Given the description of an element on the screen output the (x, y) to click on. 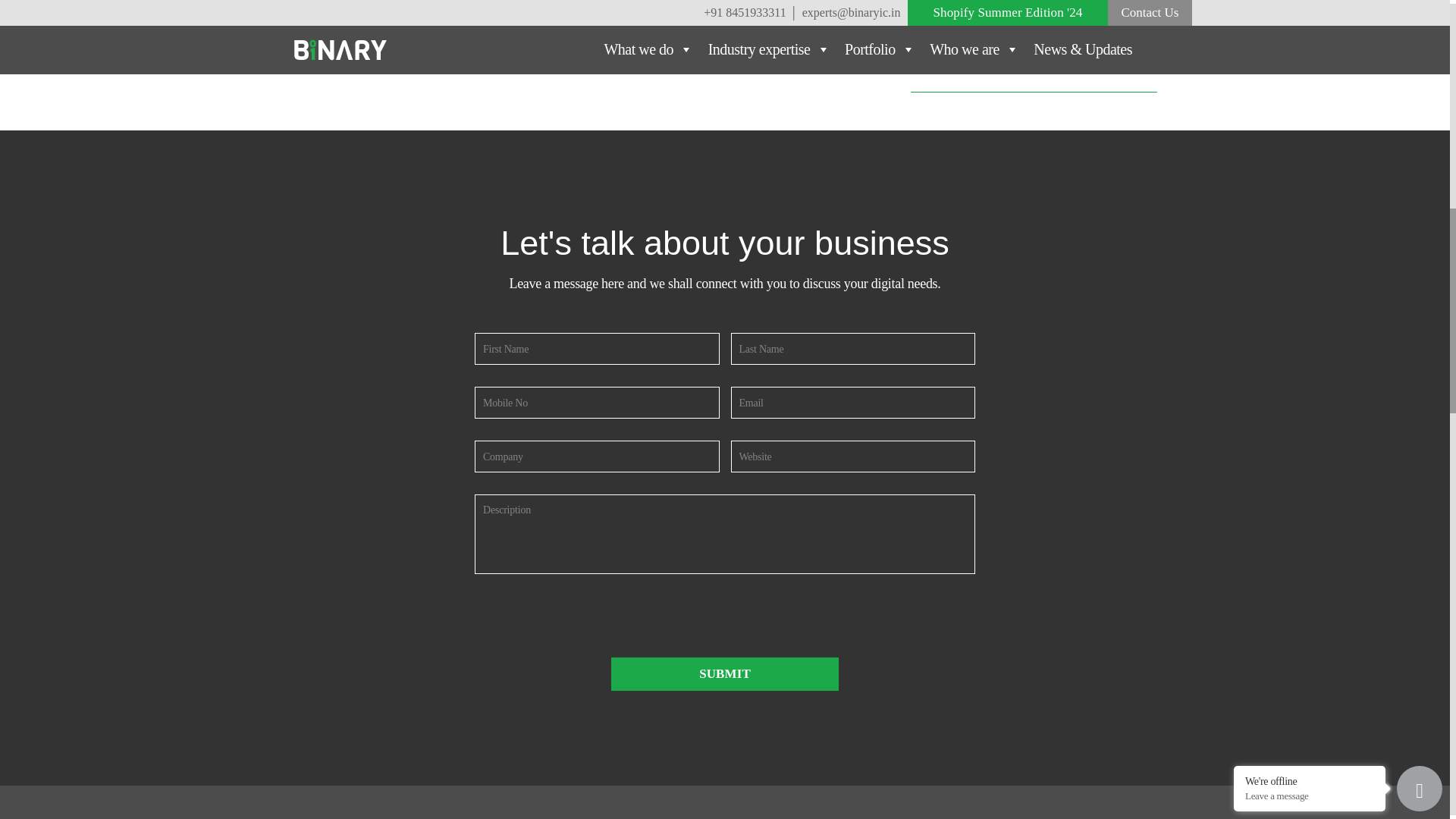
Submit (724, 674)
Submit (724, 674)
